Given the description of an element on the screen output the (x, y) to click on. 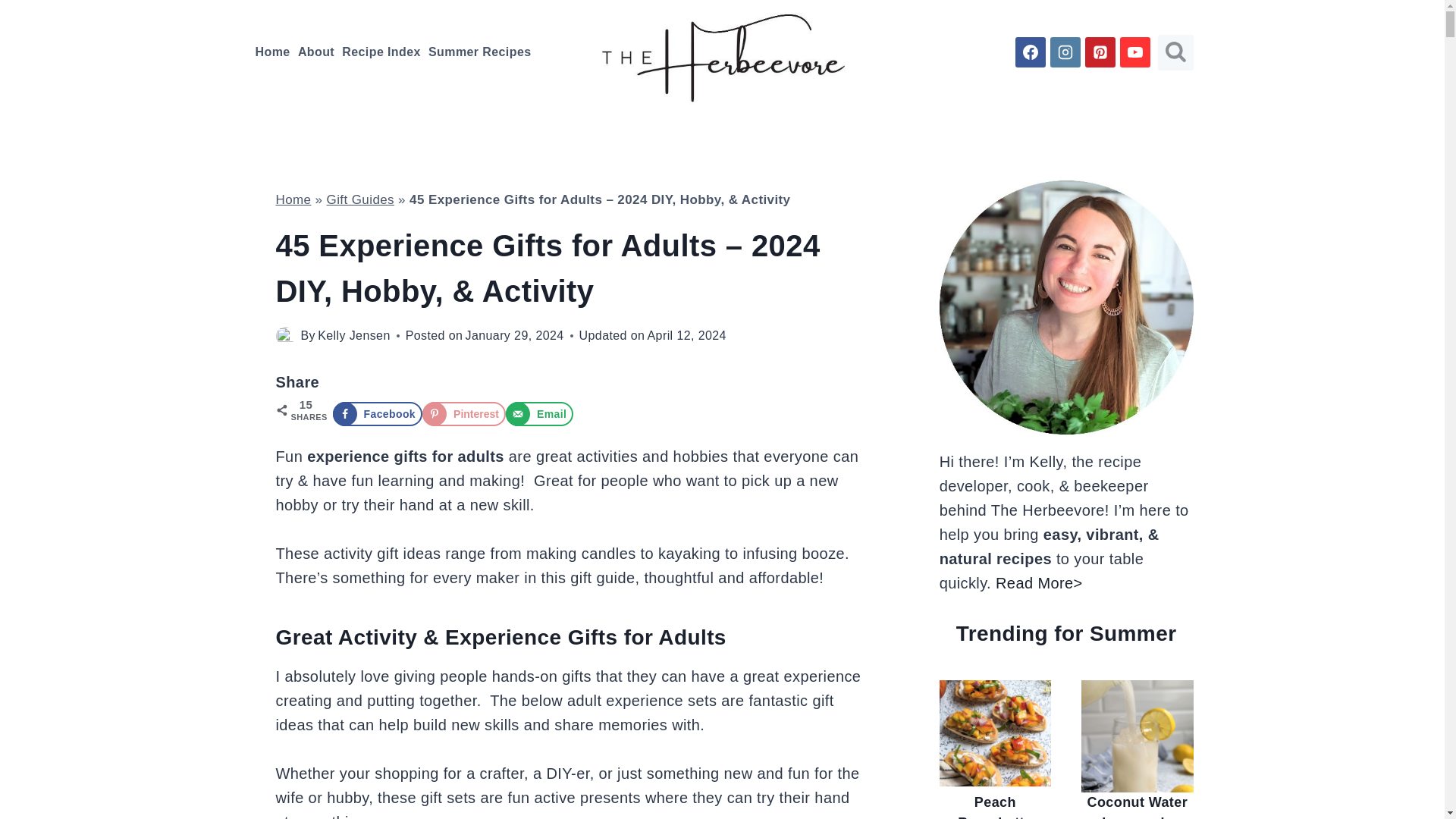
Email (539, 413)
Pinterest (463, 413)
Save to Pinterest (463, 413)
Send over email (539, 413)
Share on Facebook (376, 413)
About (315, 52)
Facebook (376, 413)
Recipe Index (381, 52)
Summer Recipes (480, 52)
Home (293, 199)
